Given the description of an element on the screen output the (x, y) to click on. 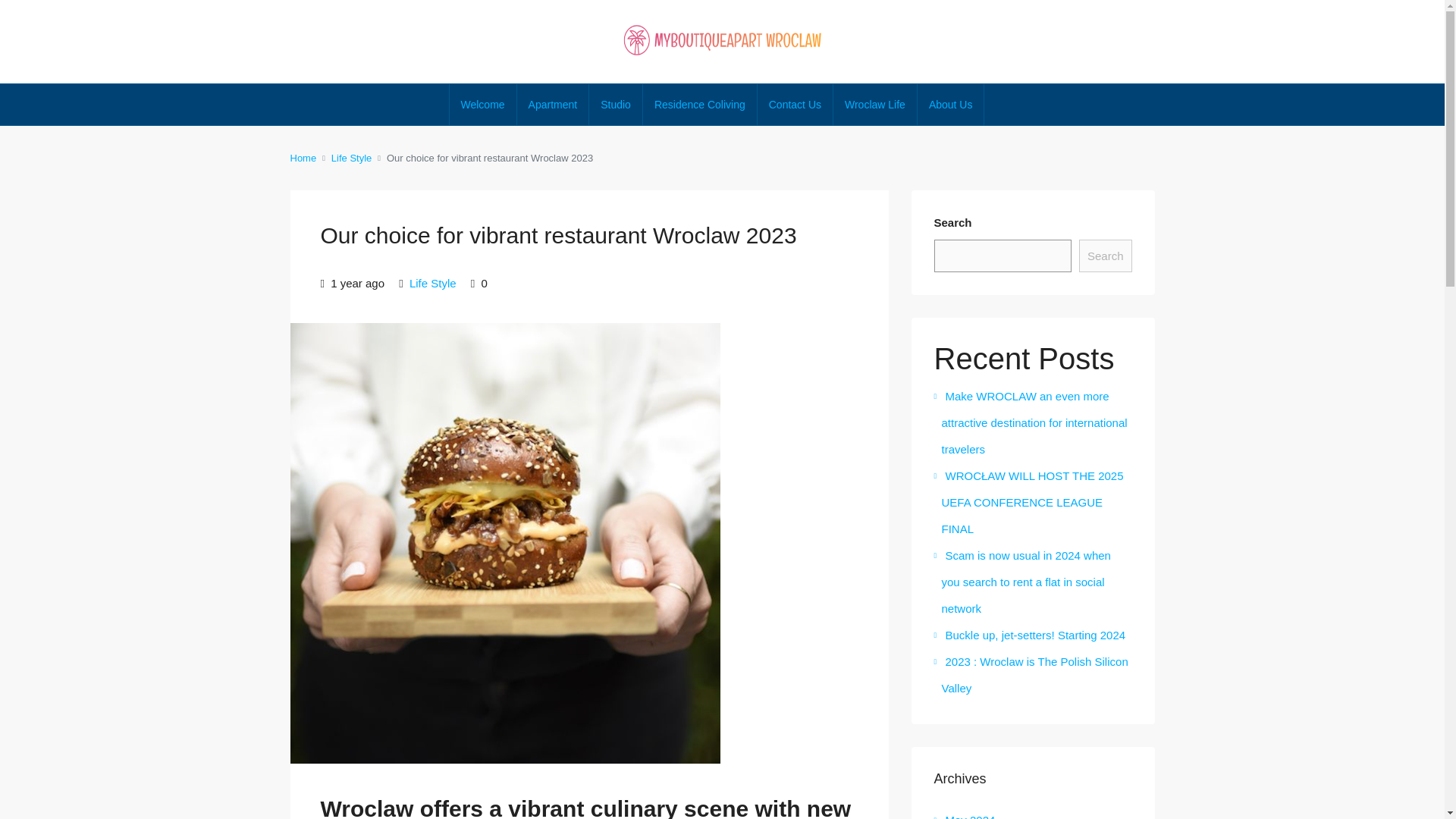
About Us (950, 104)
Search (1105, 255)
Studio (615, 104)
Life Style (433, 282)
Wroclaw Life (874, 104)
Life Style (351, 157)
Apartment (552, 104)
Home (302, 157)
Welcome (482, 104)
Residence Coliving (700, 104)
Contact Us (794, 104)
